Given the description of an element on the screen output the (x, y) to click on. 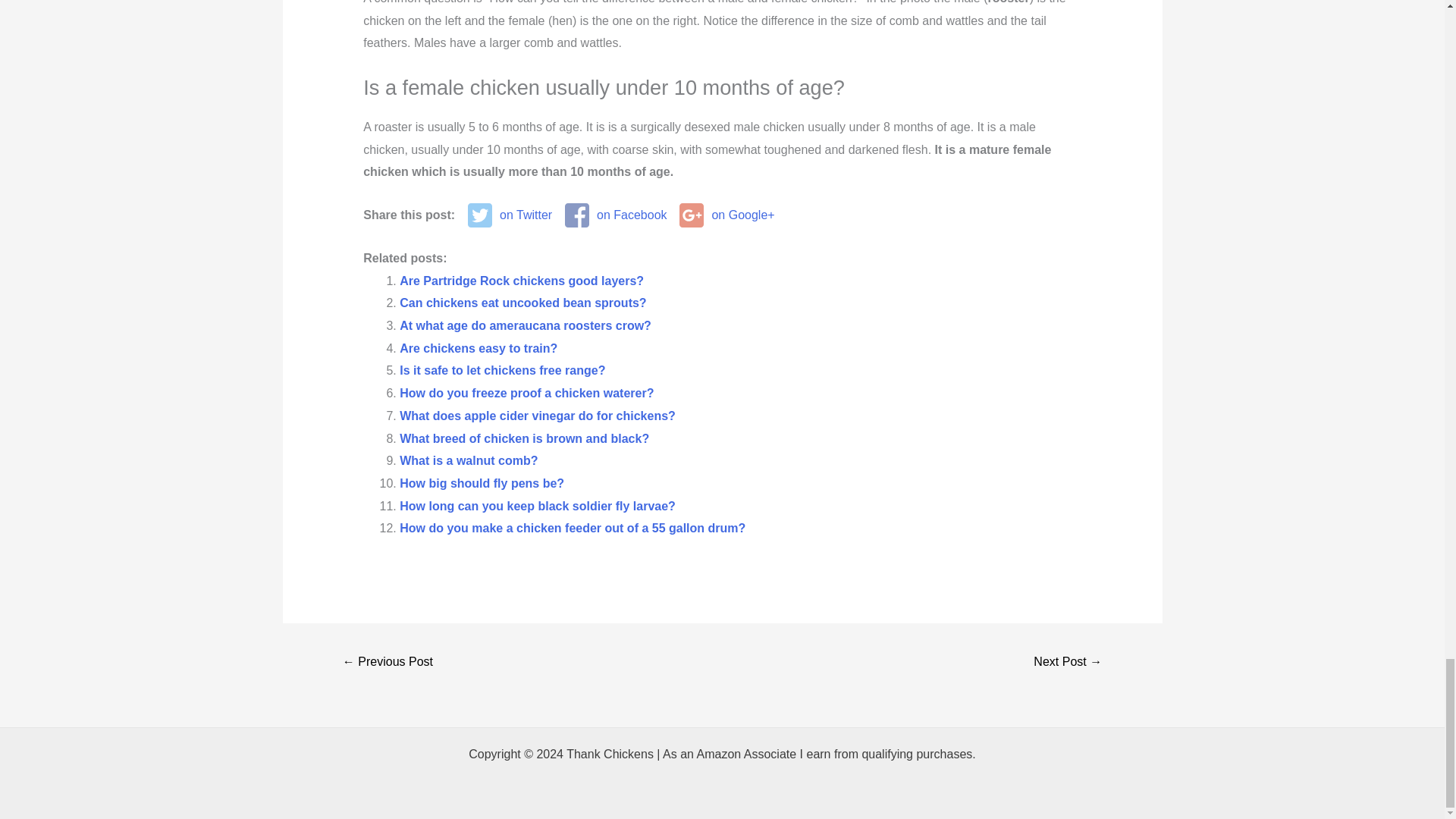
Can chickens eat uncooked bean sprouts? (522, 302)
At what age do ameraucana roosters crow? (524, 325)
How do you freeze proof a chicken waterer? (525, 392)
How do you freeze proof a chicken waterer? (525, 392)
How long can you keep black soldier fly larvae? (536, 505)
What does apple cider vinegar do for chickens? (536, 415)
What size chickens are used for chicken wings? (387, 663)
Are chickens easy to train? (477, 348)
Is it safe to let chickens free range? (501, 369)
Are Partridge Rock chickens good layers? (520, 280)
